Given the description of an element on the screen output the (x, y) to click on. 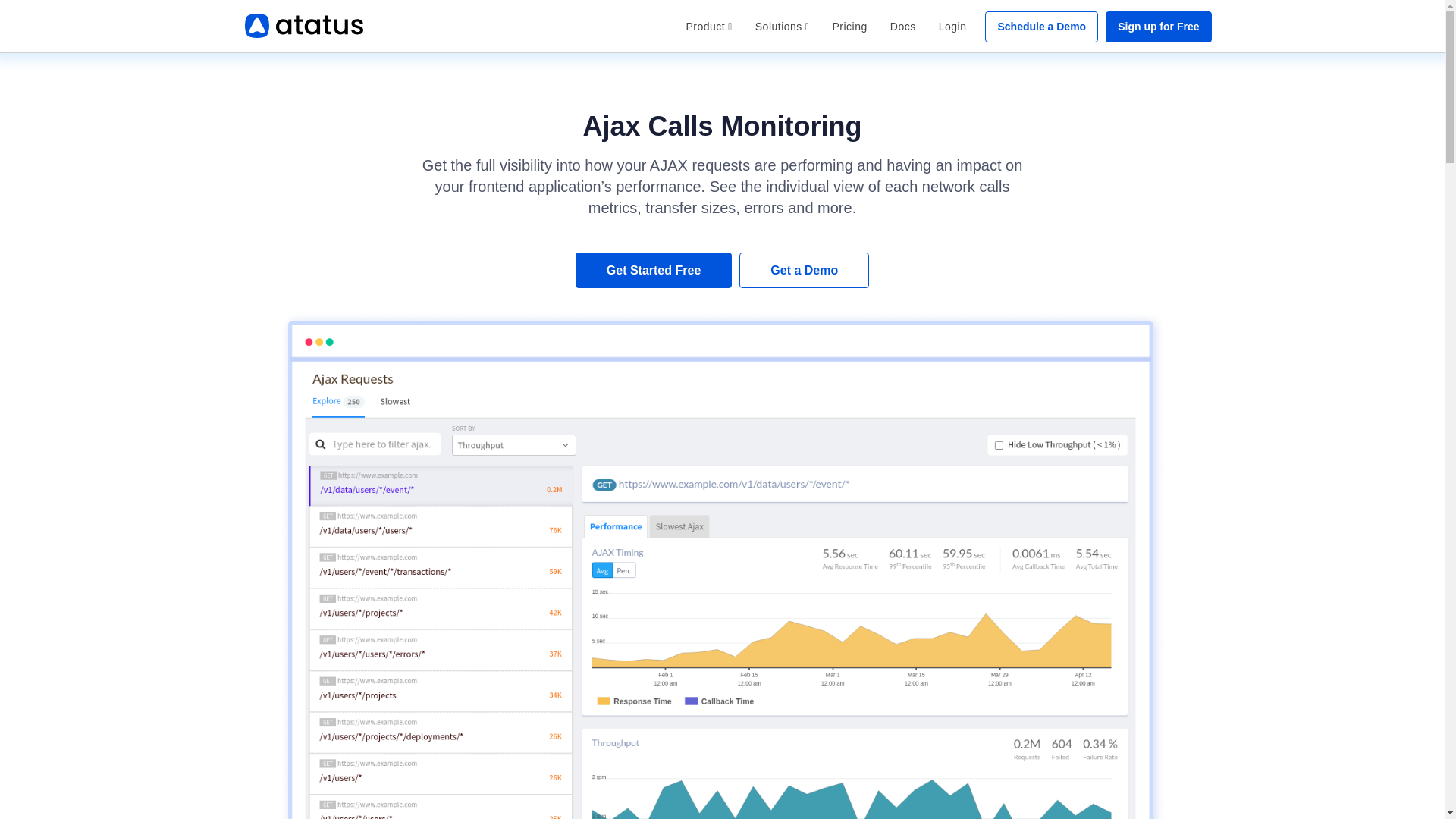
Login (952, 26)
Docs (903, 26)
Pricing (849, 26)
Product (708, 26)
Solutions (782, 26)
